Given the description of an element on the screen output the (x, y) to click on. 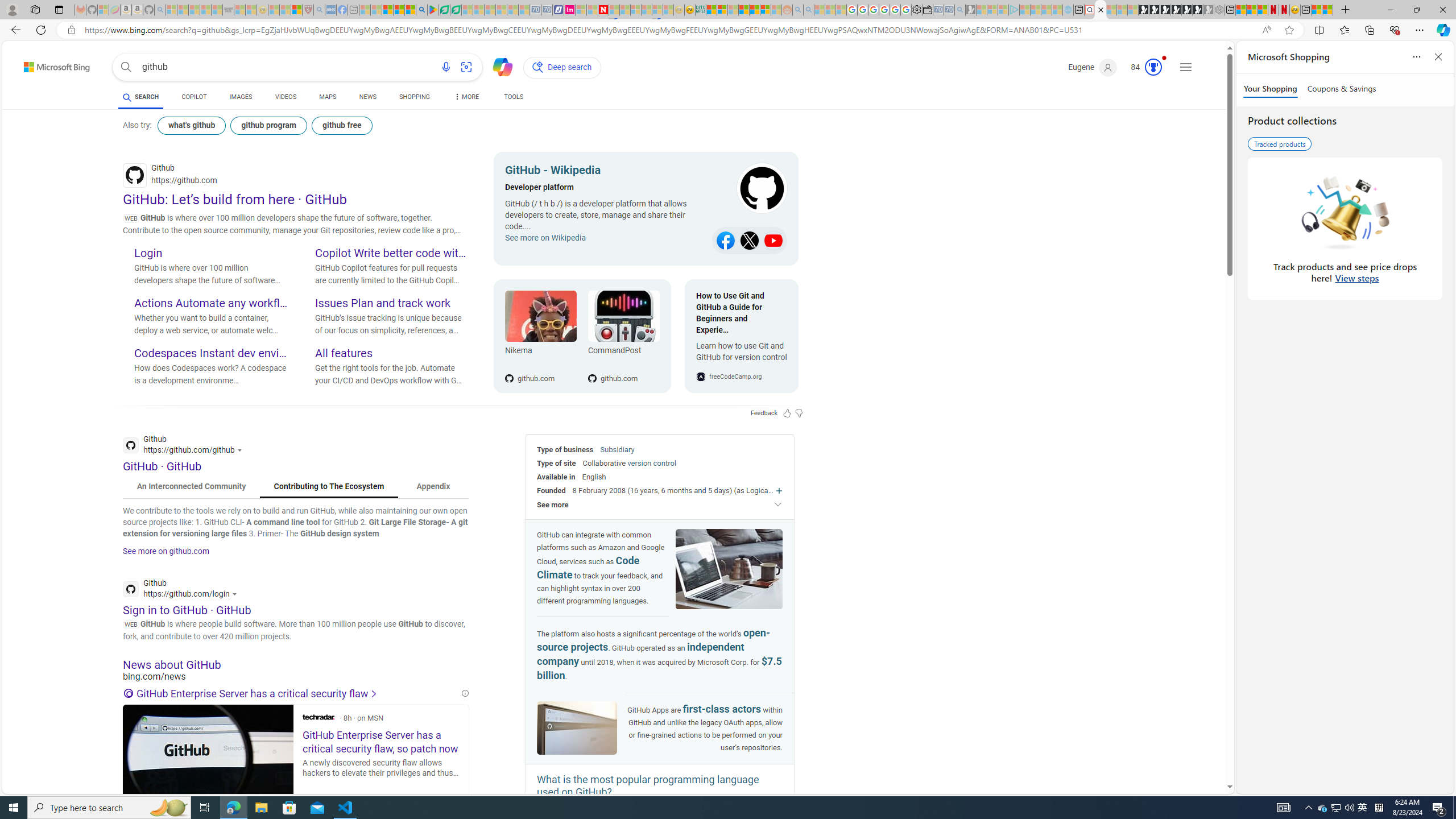
Image of GitHub (577, 728)
Play Free Online Games | Games from Microsoft Start (1144, 9)
Local - MSN (296, 9)
Actions for this site (235, 594)
Feedback Like (786, 412)
Robert H. Shmerling, MD - Harvard Health - Sleeping (307, 9)
AutomationID: serp_medal_svg (1152, 67)
